Given the description of an element on the screen output the (x, y) to click on. 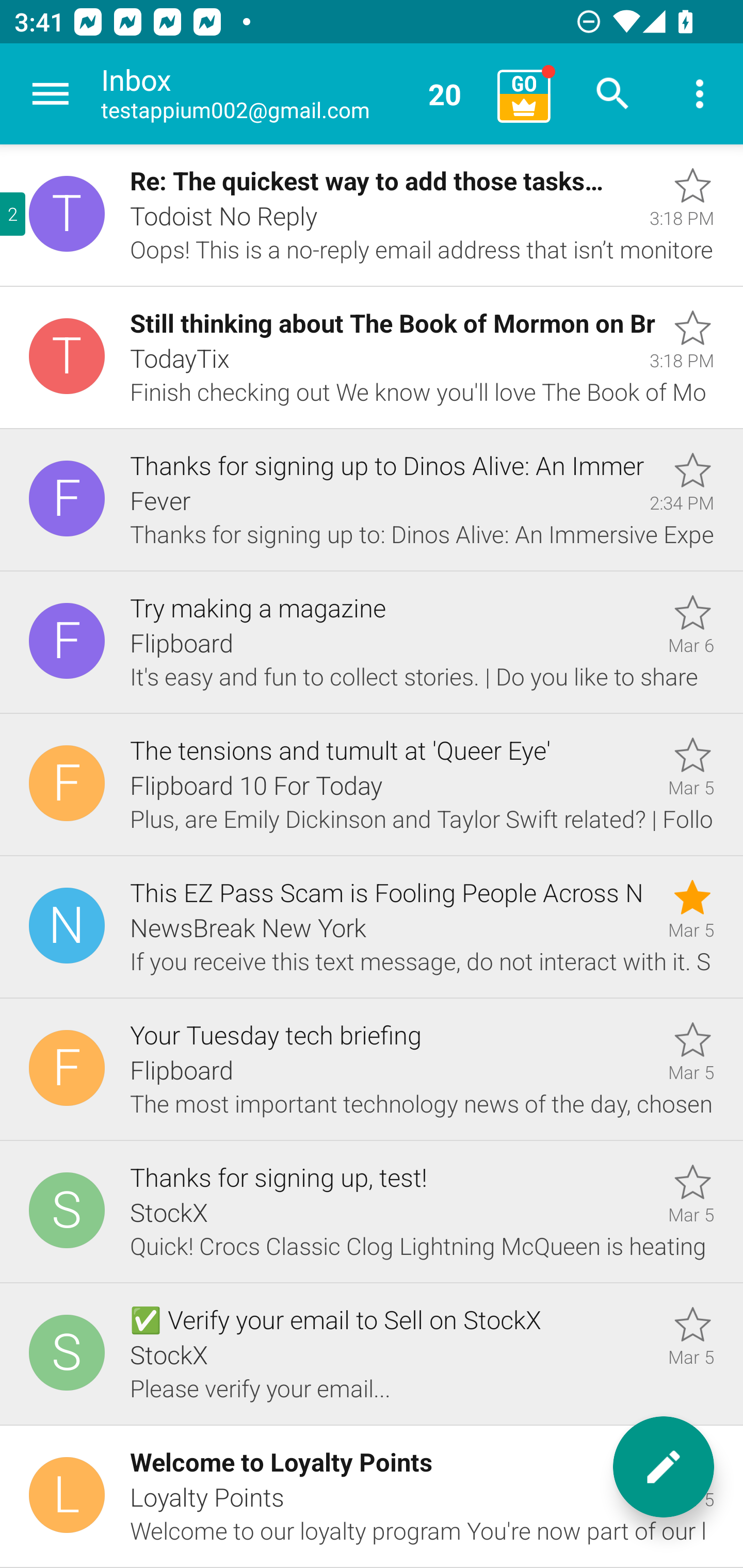
Navigate up (50, 93)
Inbox testappium002@gmail.com 20 (291, 93)
Search (612, 93)
More options (699, 93)
New message (663, 1466)
